Given the description of an element on the screen output the (x, y) to click on. 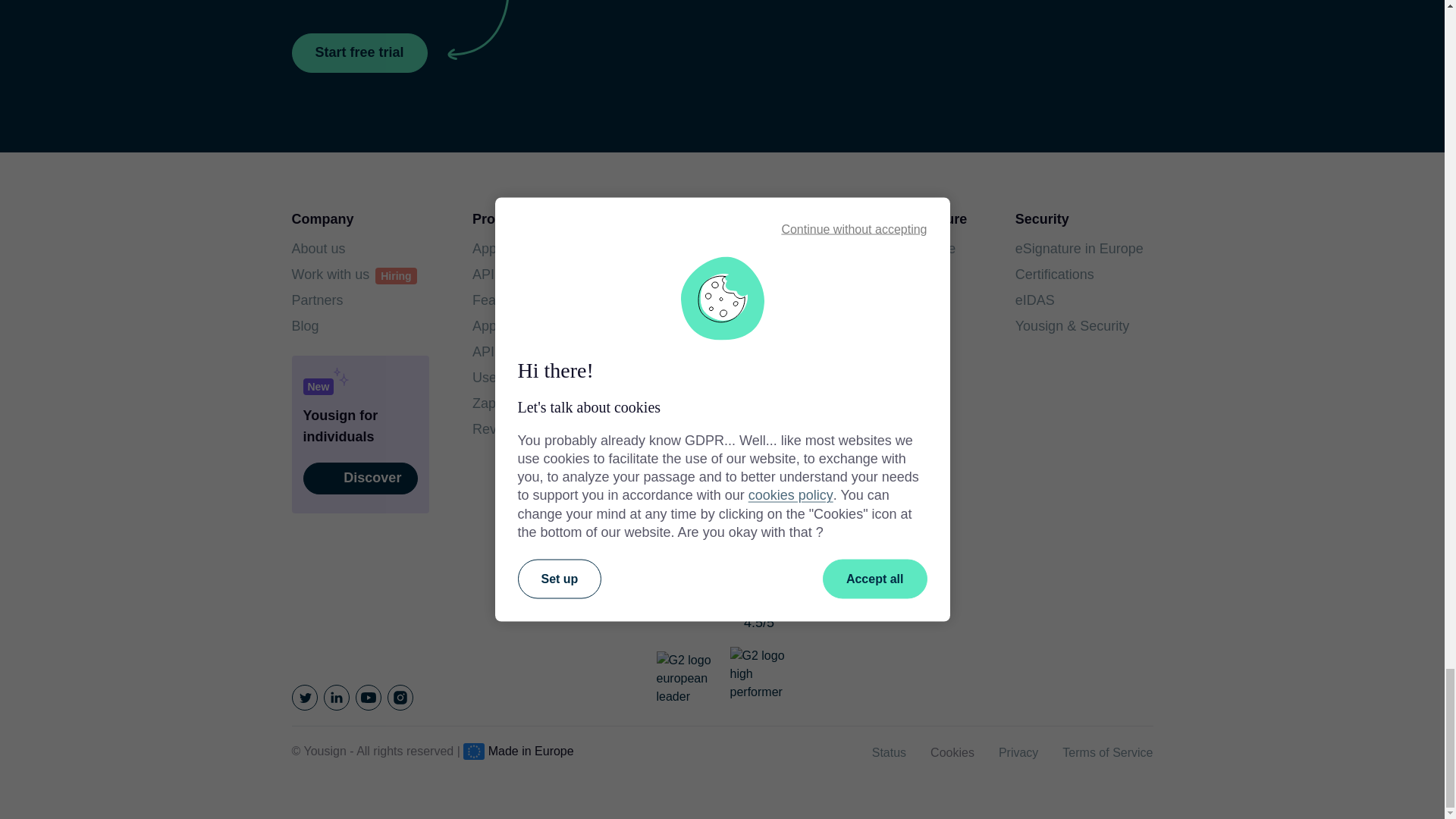
Start free trial (358, 52)
